Given the description of an element on the screen output the (x, y) to click on. 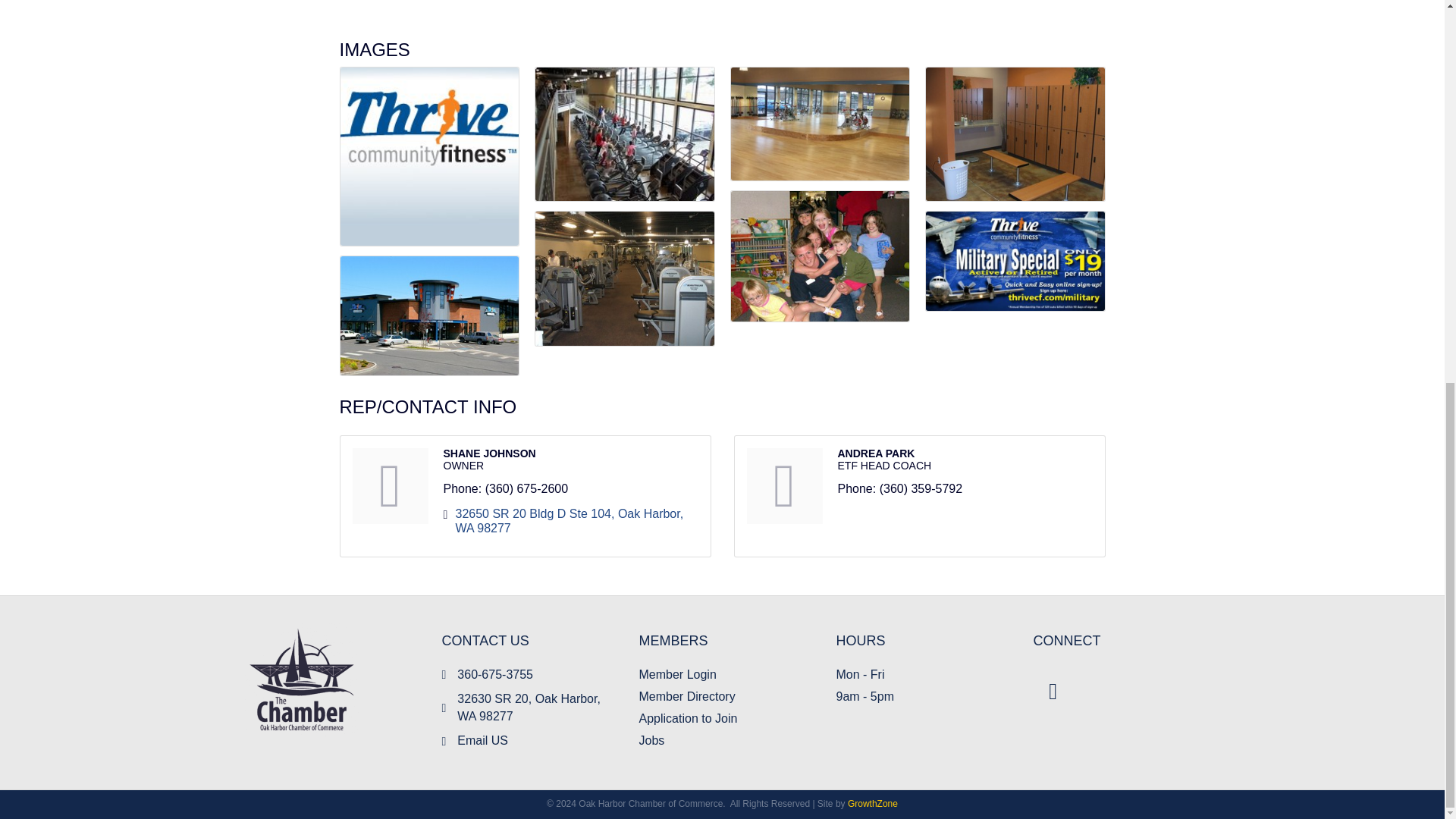
Gallery Image Oak-Harbor-locker.jpg (1015, 134)
Gallery Image LOGO.jpg (428, 156)
Gallery Image Thrive-Military-PC-2012-Anacortes-OH-1GOOD.jpg (1015, 261)
Gallery Image Oak-Harbor-weights.jpg (624, 278)
Gallery Image Oak-Harbor-Looking-down-104.jpg (624, 134)
